Given the description of an element on the screen output the (x, y) to click on. 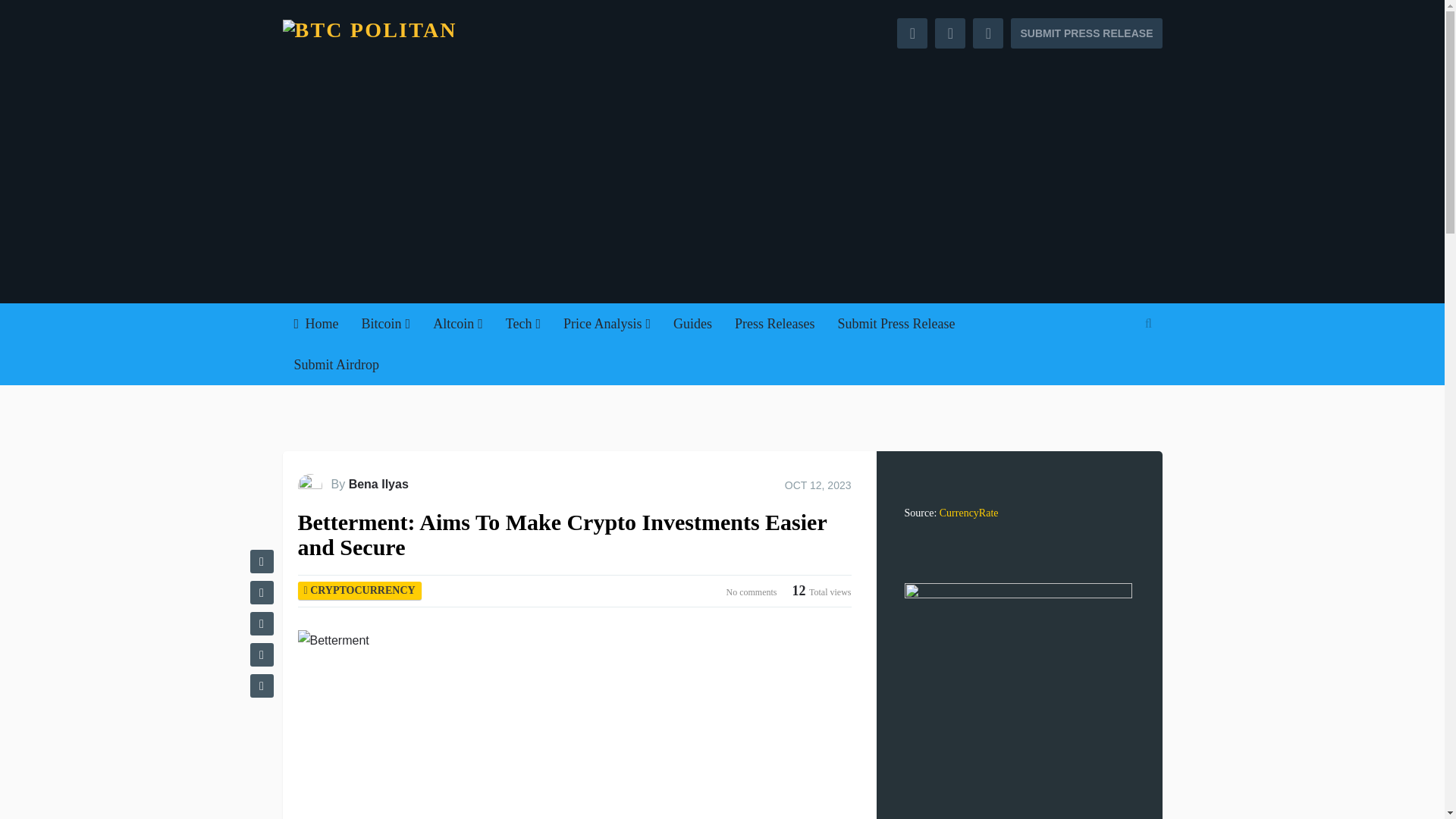
Submit Press Release (896, 323)
Press Releases (774, 323)
Home (315, 323)
Price Analysis (606, 323)
Altcoin (458, 323)
View all posts in Cryptocurrency (362, 590)
Submit Airdrop (336, 363)
Posts by Bena Ilyas (379, 483)
Bitcoin (386, 323)
SUBMIT PRESS RELEASE (1085, 33)
